Given the description of an element on the screen output the (x, y) to click on. 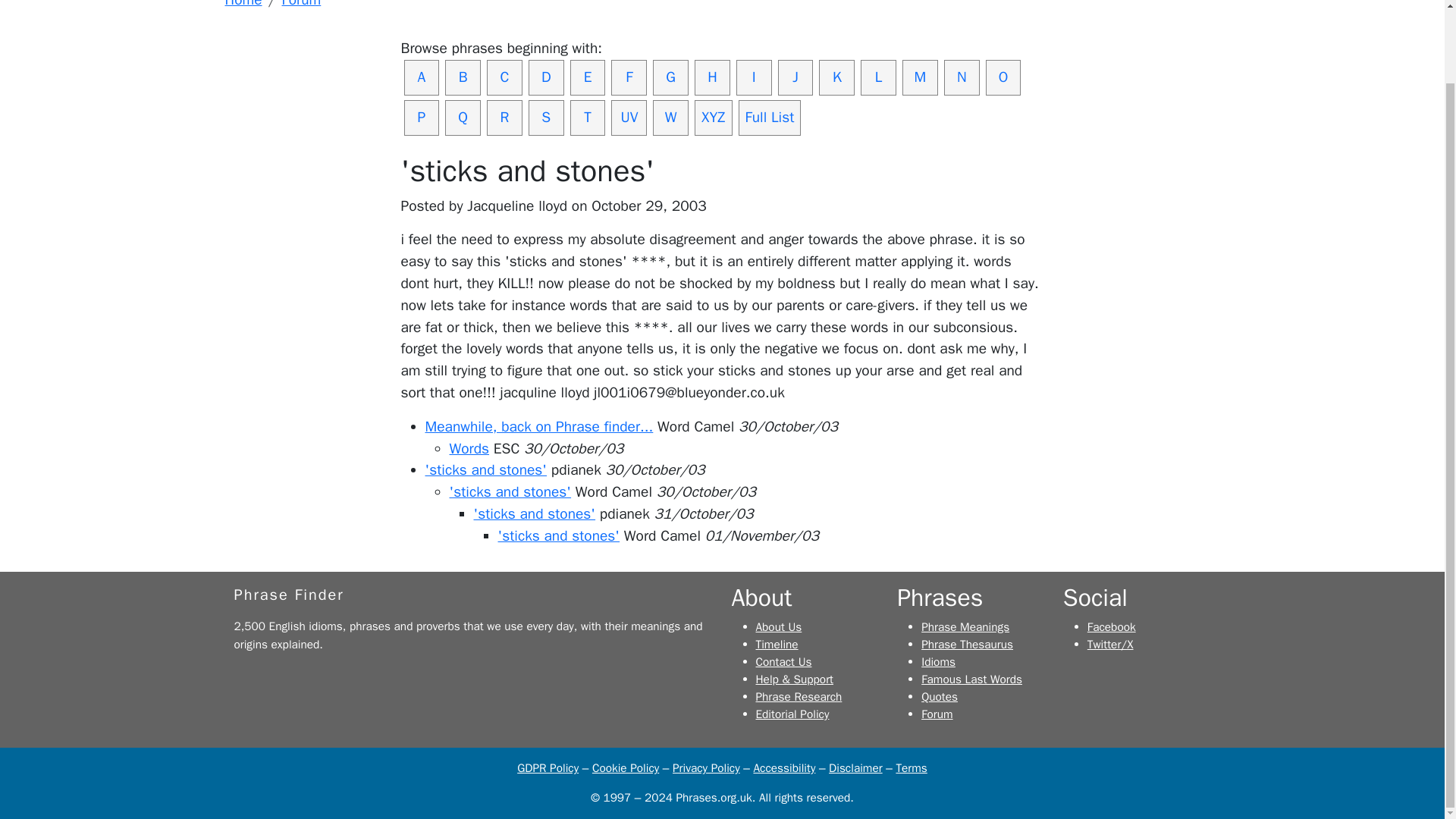
F (628, 77)
Sayings and idioms that begin with the letter T (587, 117)
Q (462, 117)
B (462, 77)
Forum (301, 4)
Sayings and idioms that begin with the letter I (753, 77)
Sayings and idioms that begin with the letter D (546, 77)
H (712, 77)
D (546, 77)
E (587, 77)
P (421, 117)
Sayings and idioms that begin with the letter L (878, 77)
Sayings and idioms that begin with the letter S (546, 117)
'sticks and stones' (558, 536)
Sayings and idioms that begin with the letter A (421, 77)
